Given the description of an element on the screen output the (x, y) to click on. 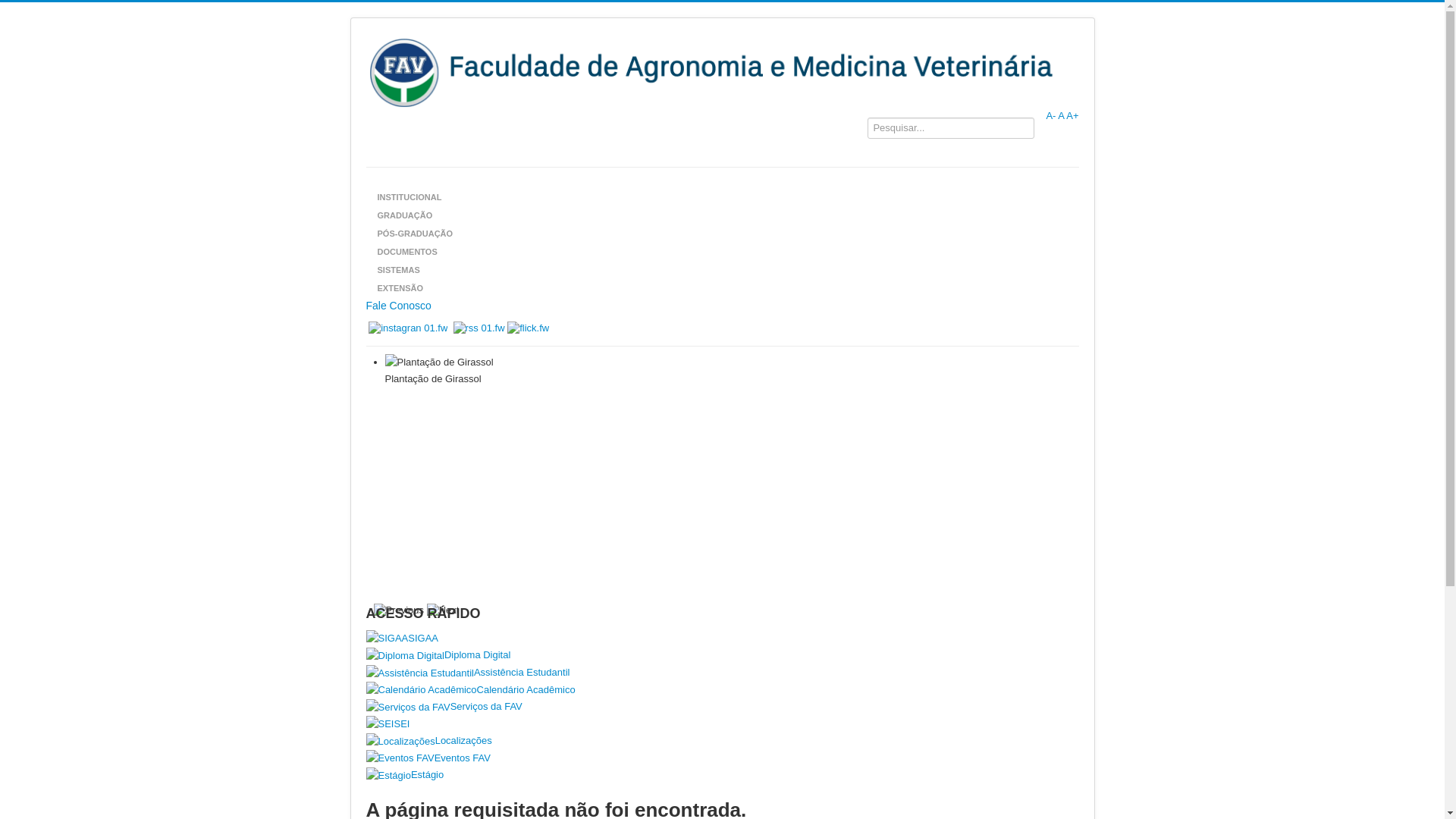
Diploma Digital Element type: text (721, 655)
A+ Element type: text (1072, 115)
A Element type: text (1060, 115)
A- Element type: text (1050, 115)
SEI Element type: text (721, 724)
SIGAA Element type: text (721, 638)
Eventos FAV Element type: text (721, 758)
Fale Conosco Element type: text (721, 305)
